Given the description of an element on the screen output the (x, y) to click on. 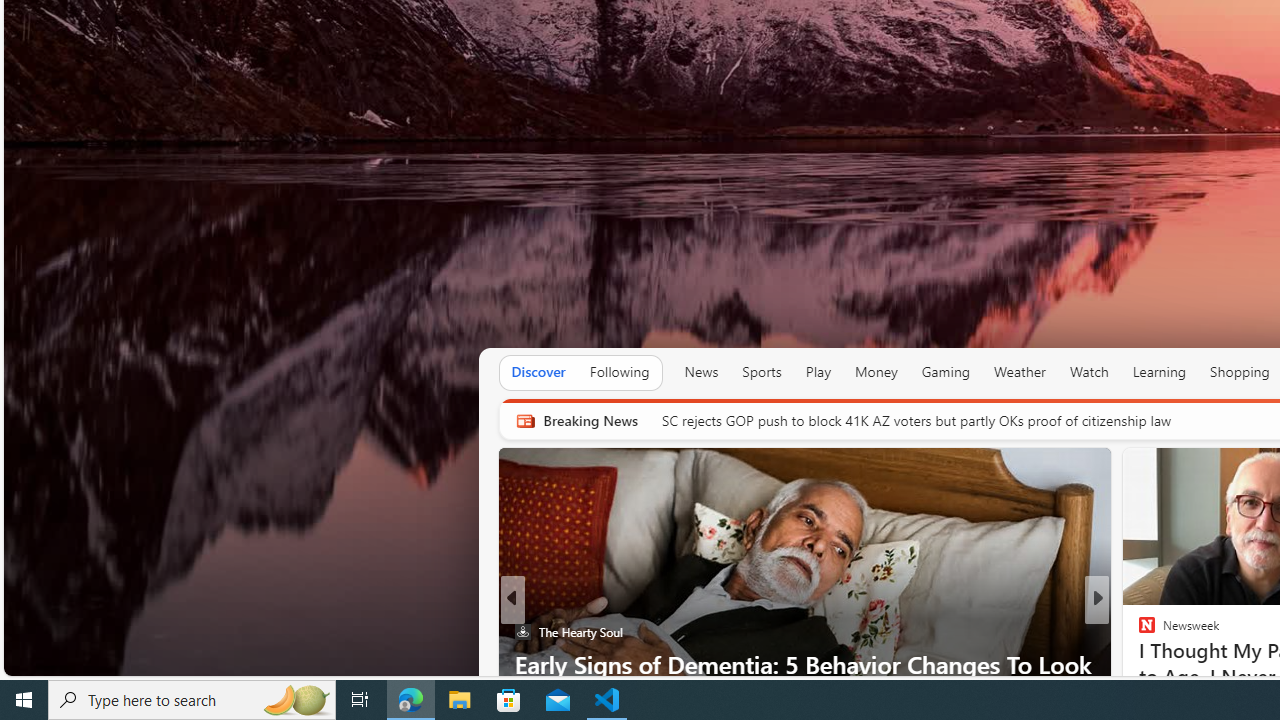
XDA Developers (1138, 632)
Early Signs of Dementia: 5 Behavior Changes To Look Out For (804, 680)
Yumophile (1138, 663)
Morning Carpool (1138, 663)
